Given the description of an element on the screen output the (x, y) to click on. 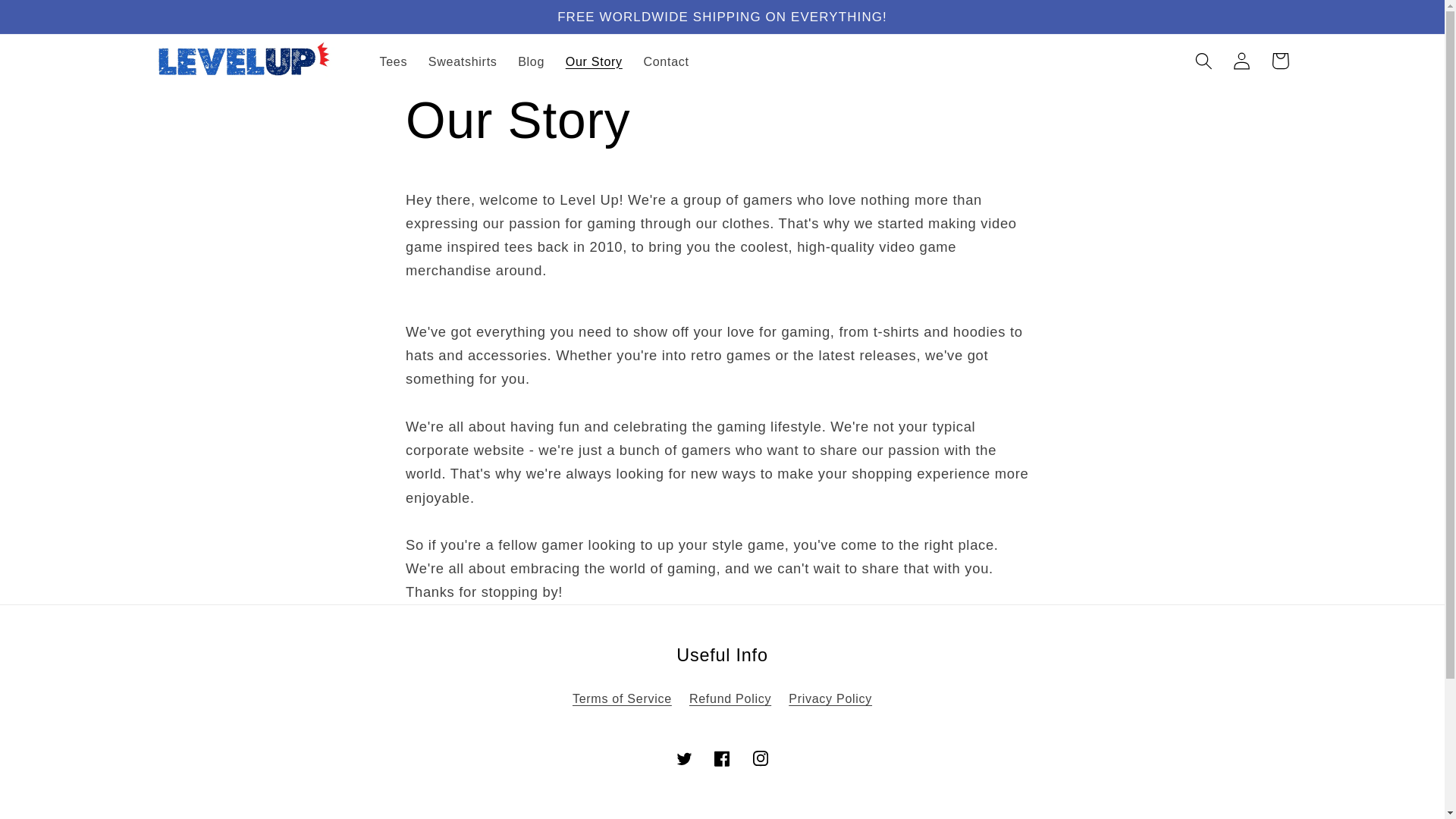
Privacy Policy (830, 698)
Skip to content (53, 20)
Tees (393, 61)
Cart (1280, 60)
Sweatshirts (461, 61)
Our Story (593, 61)
Twitter (684, 758)
Facebook (722, 758)
Blog (530, 61)
Log in (1242, 60)
Contact (666, 61)
Refund Policy (729, 698)
Terms of Service (621, 700)
Instagram (760, 758)
